Given the description of an element on the screen output the (x, y) to click on. 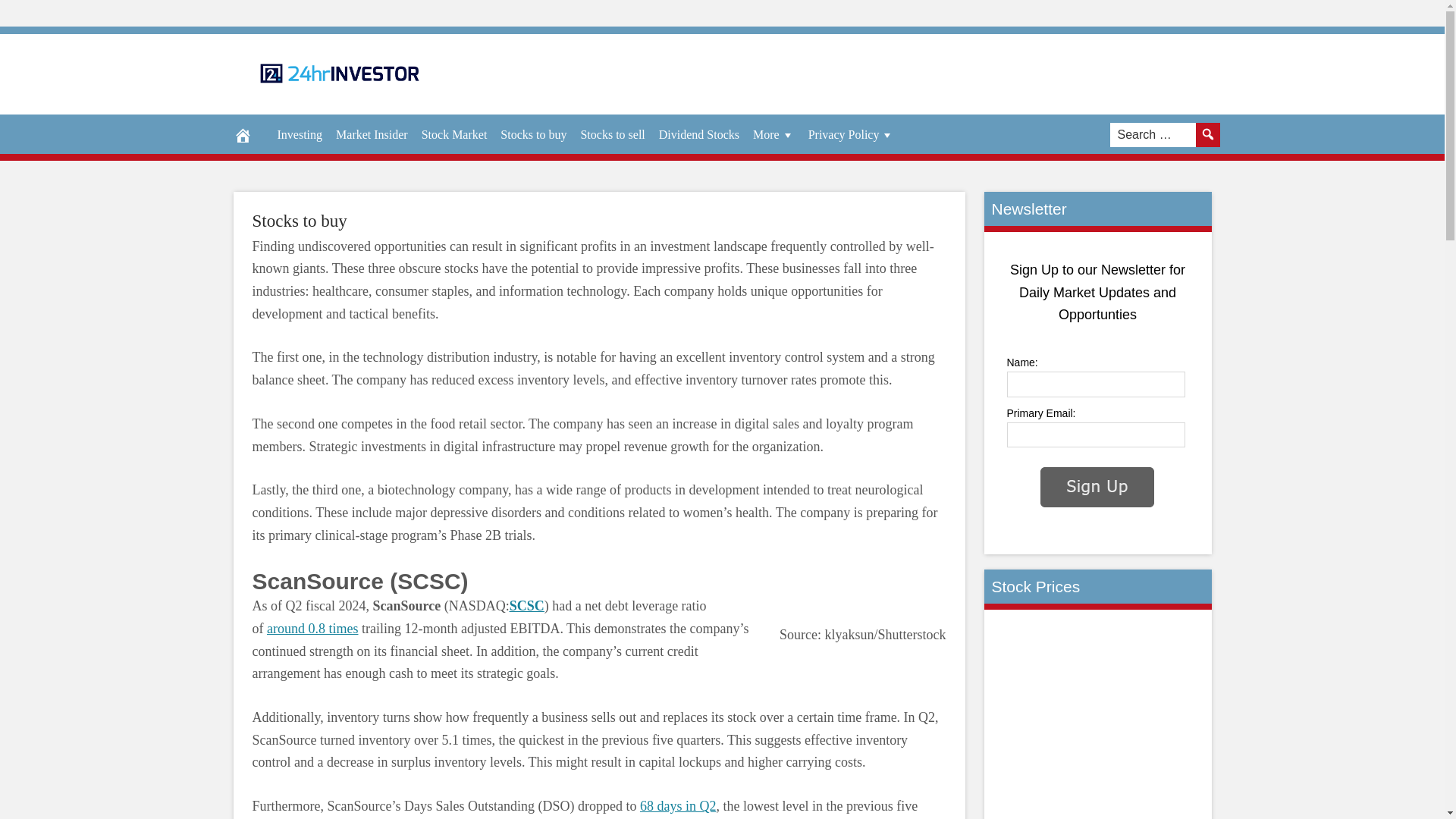
Stocks to buy (298, 220)
Stocks to buy (298, 220)
Stocks to buy (533, 134)
Privacy Policy (851, 134)
Dividend Stocks (698, 134)
Stock Market (454, 134)
around 0.8 times (312, 628)
Investing (299, 134)
Stocks to sell (611, 134)
SCSC (526, 605)
More (773, 134)
Market Insider (371, 134)
